Given the description of an element on the screen output the (x, y) to click on. 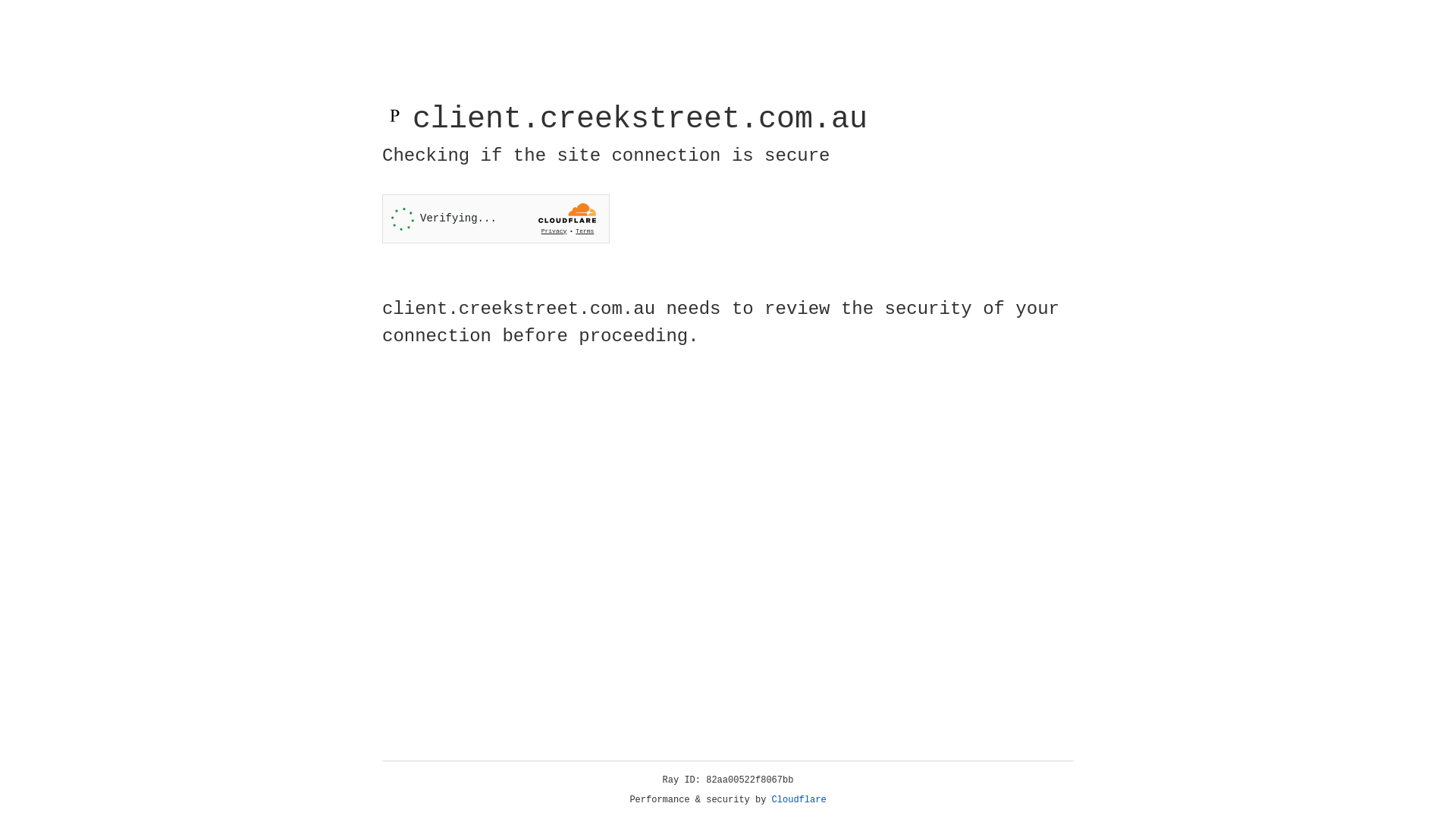
Cloudflare Element type: text (798, 799)
Widget containing a Cloudflare security challenge Element type: hover (495, 218)
